Given the description of an element on the screen output the (x, y) to click on. 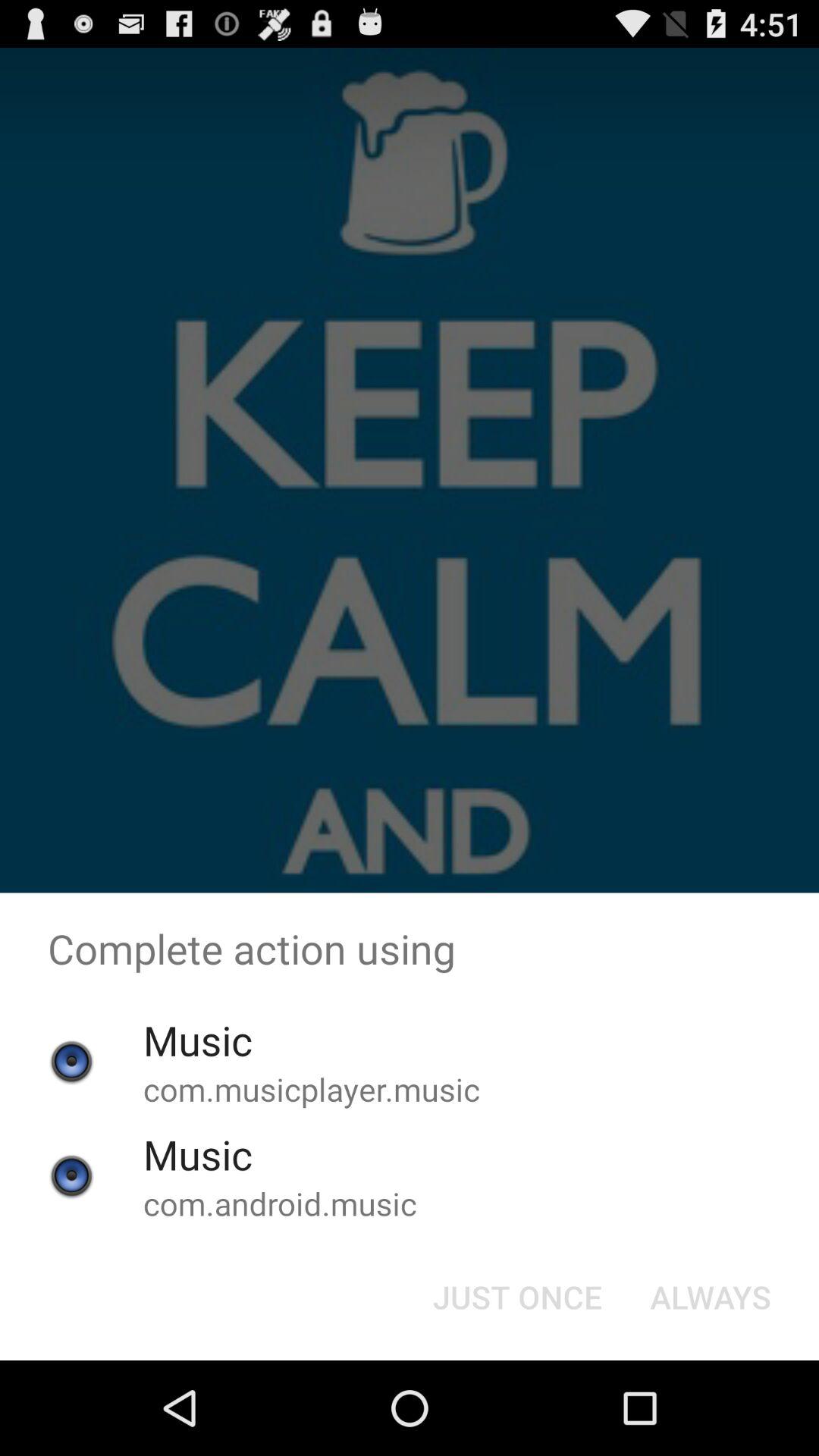
tap the icon to the left of the always icon (517, 1296)
